Given the description of an element on the screen output the (x, y) to click on. 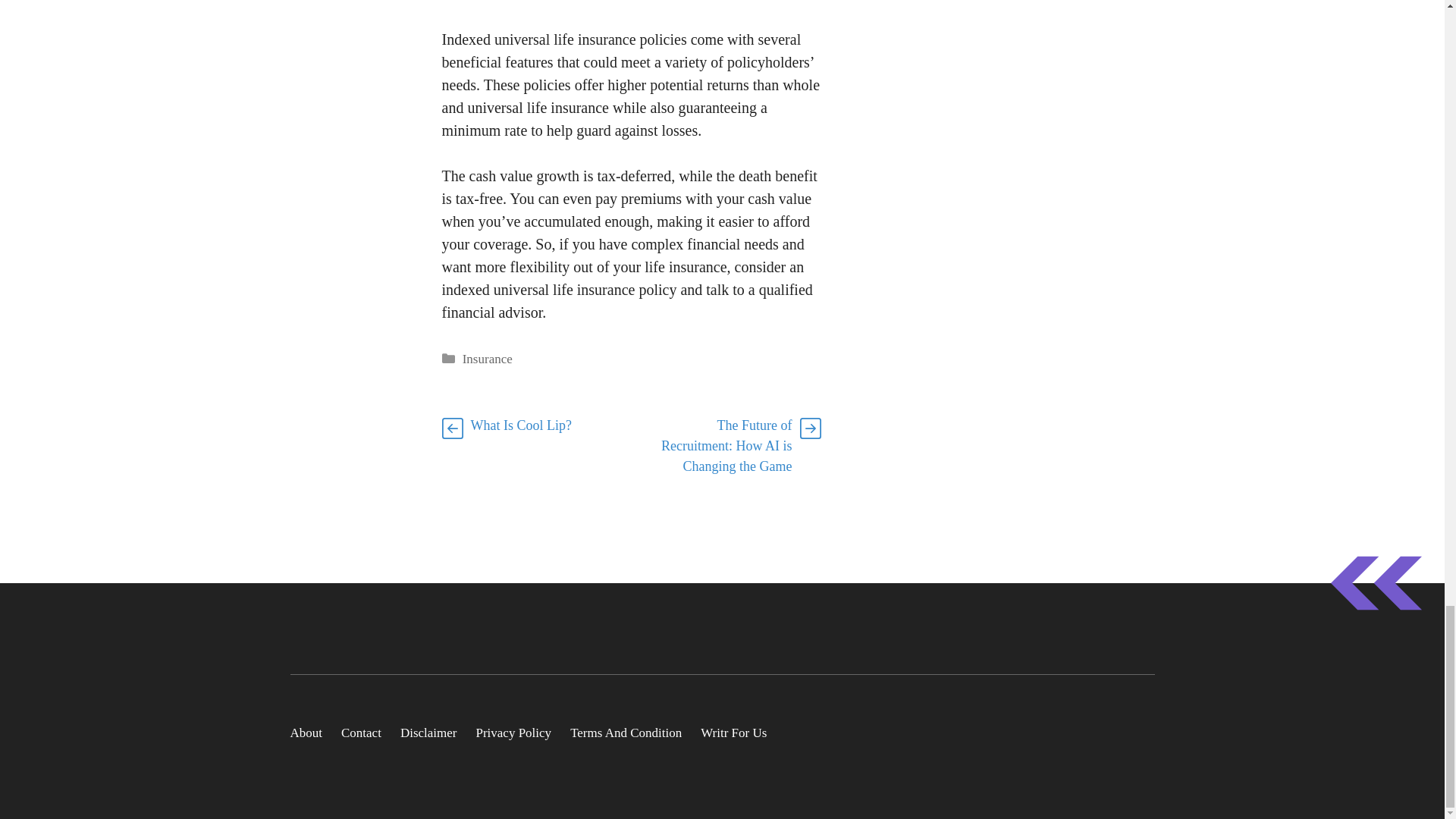
Insurance (487, 359)
What Is Cool Lip? (520, 425)
The Future of Recruitment: How AI is Changing the Game (726, 445)
